Given the description of an element on the screen output the (x, y) to click on. 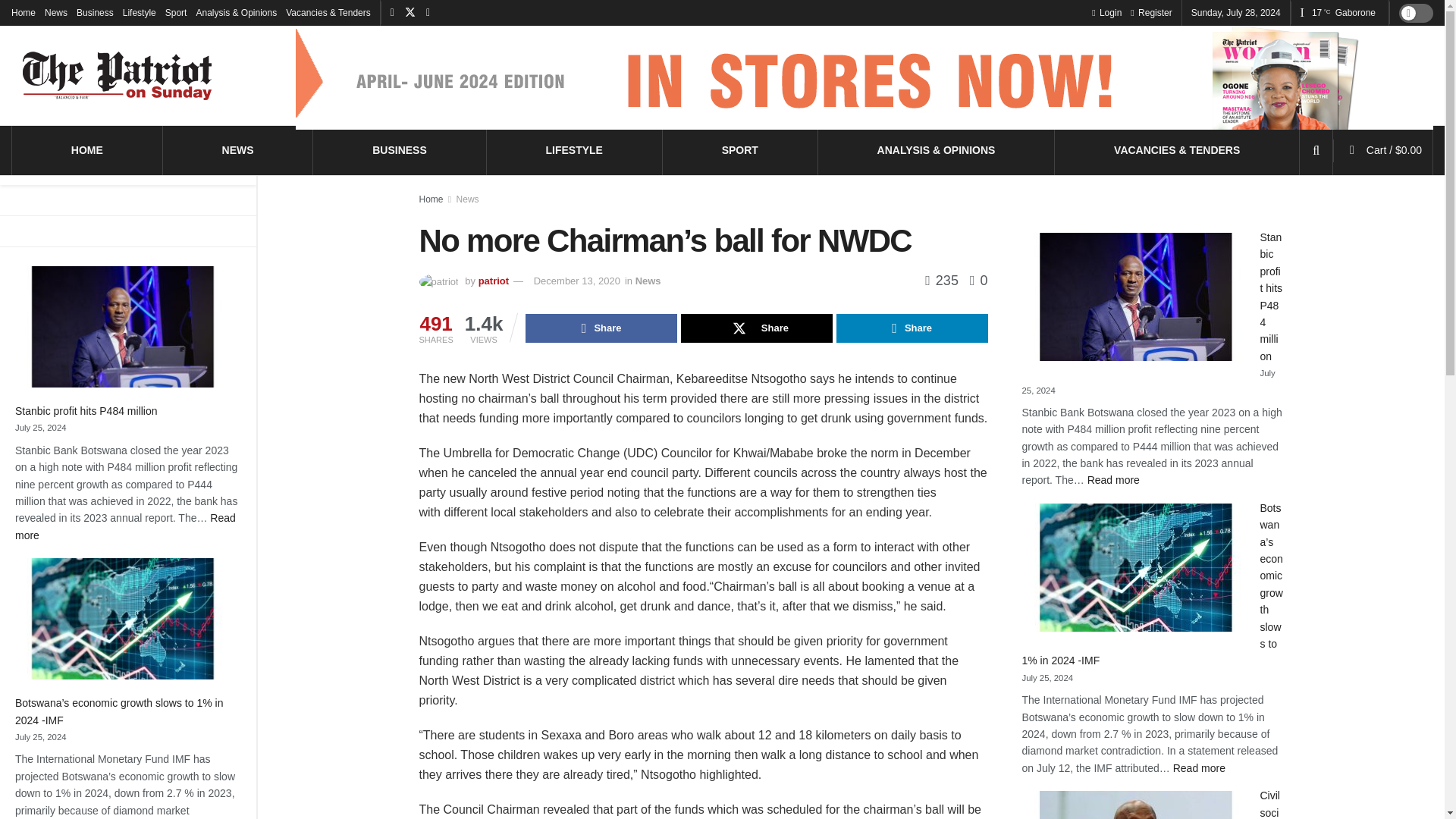
NEWS (124, 525)
Lifestyle (237, 149)
HOME (138, 12)
LIFESTYLE (87, 149)
Home (573, 149)
Register (22, 12)
Login (1151, 12)
Stanbic profit hits P484 million  (1106, 12)
Business (87, 410)
View your shopping cart (95, 12)
BUSINESS (1394, 150)
SPORT (399, 149)
